Given the description of an element on the screen output the (x, y) to click on. 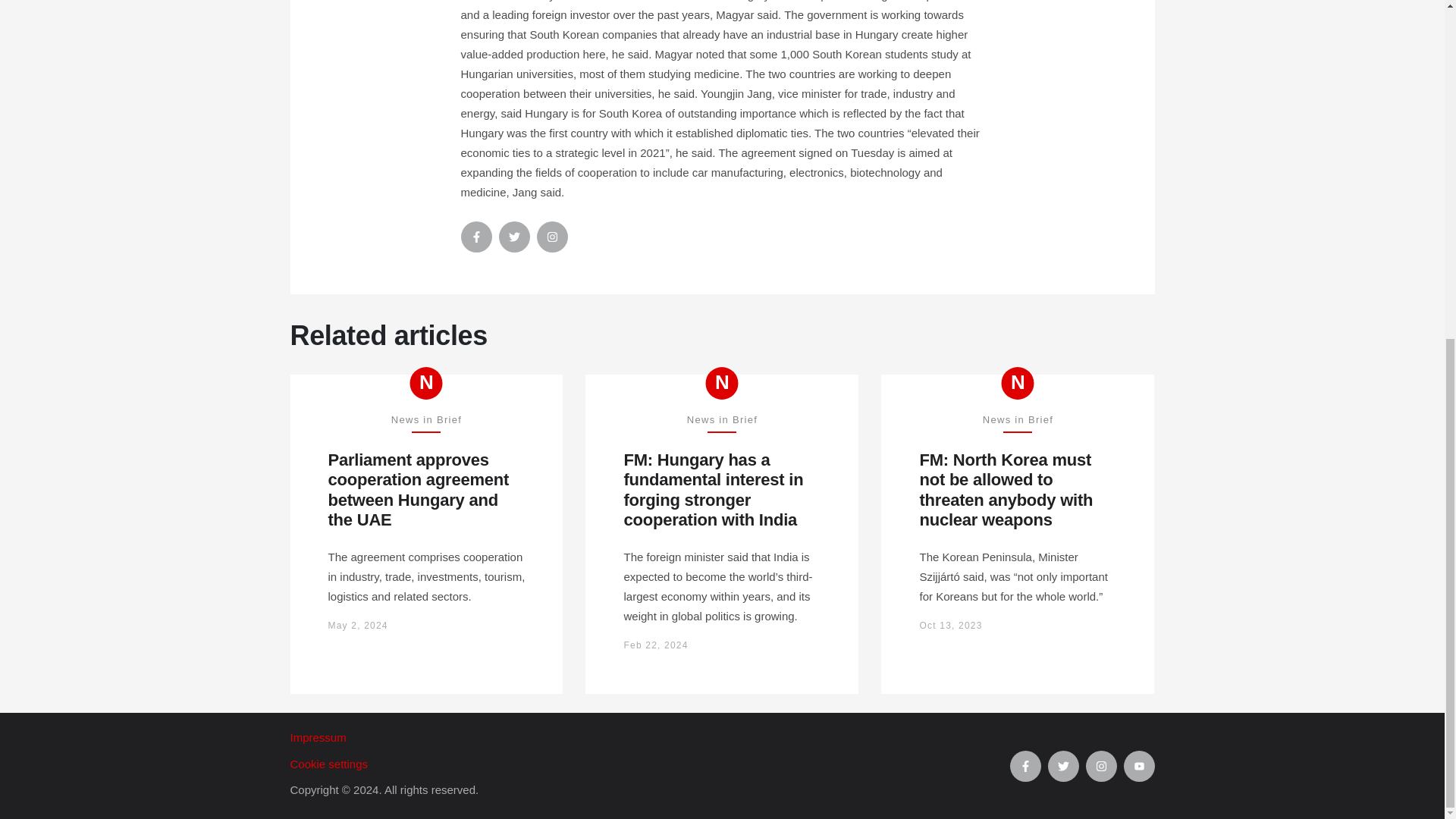
Instagram icon (552, 236)
N (722, 382)
News in Brief (1017, 382)
News in Brief (722, 382)
Impressum (649, 737)
